Given the description of an element on the screen output the (x, y) to click on. 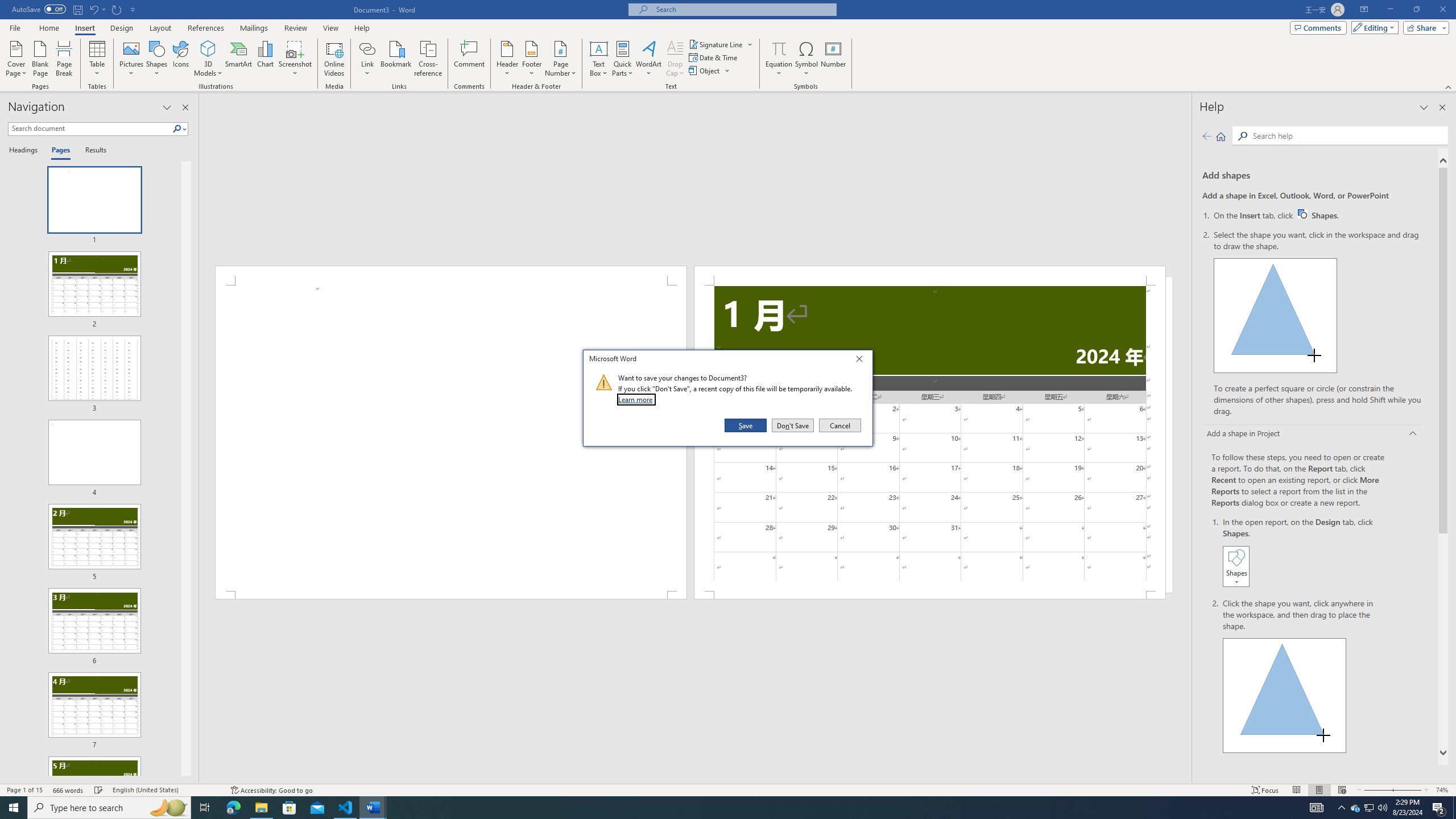
Signature Line (716, 44)
Equation (1355, 807)
Q2790: 100% (778, 48)
Word - 2 running windows (1382, 807)
Date & Time... (373, 807)
Blank Page (714, 56)
Word Count 666 words (40, 58)
